Given the description of an element on the screen output the (x, y) to click on. 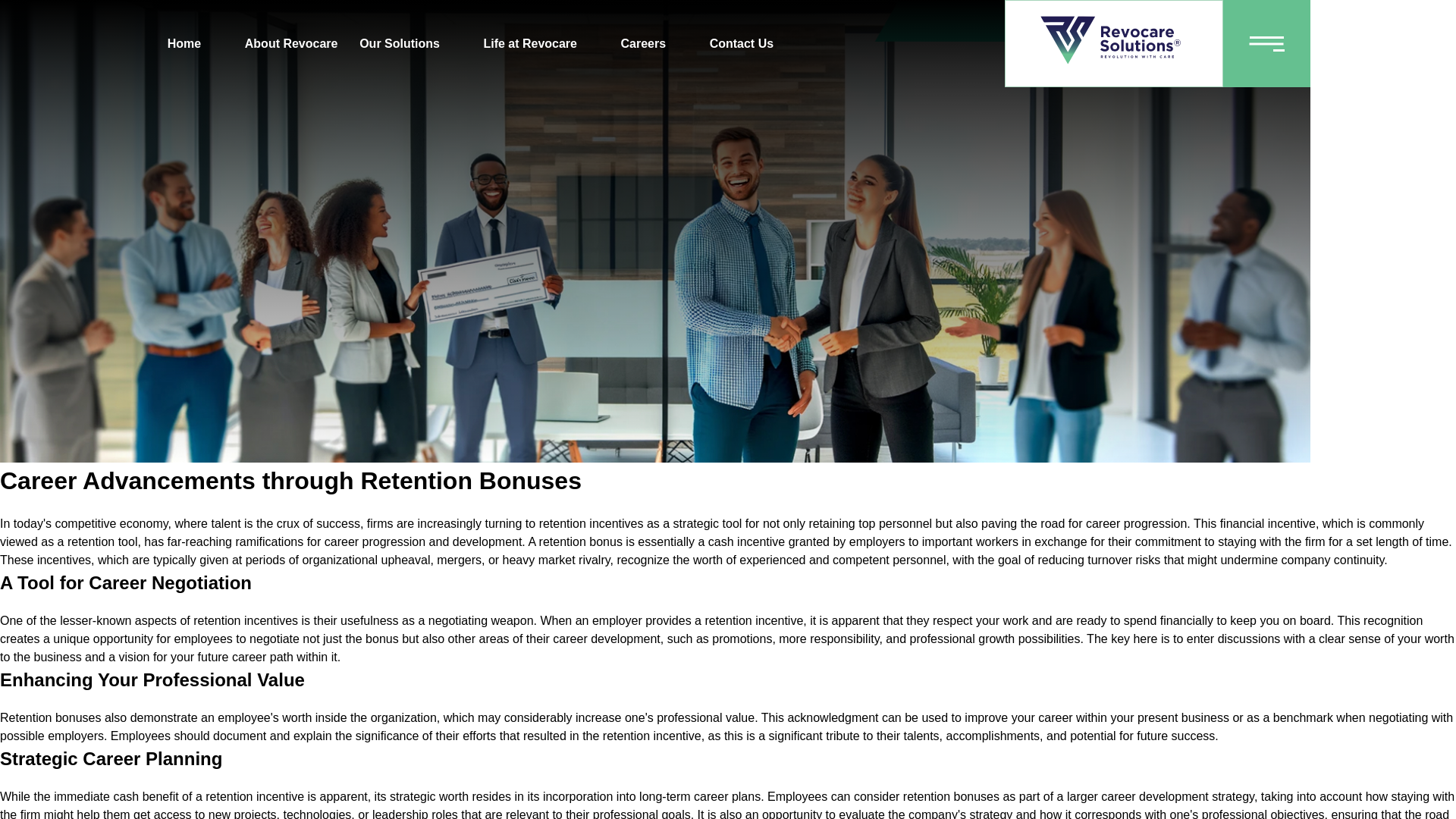
Contact Us (740, 43)
Careers (642, 43)
About Revocare (290, 43)
Home (183, 43)
Our Solutions (399, 43)
Life at Revocare (529, 43)
